Given the description of an element on the screen output the (x, y) to click on. 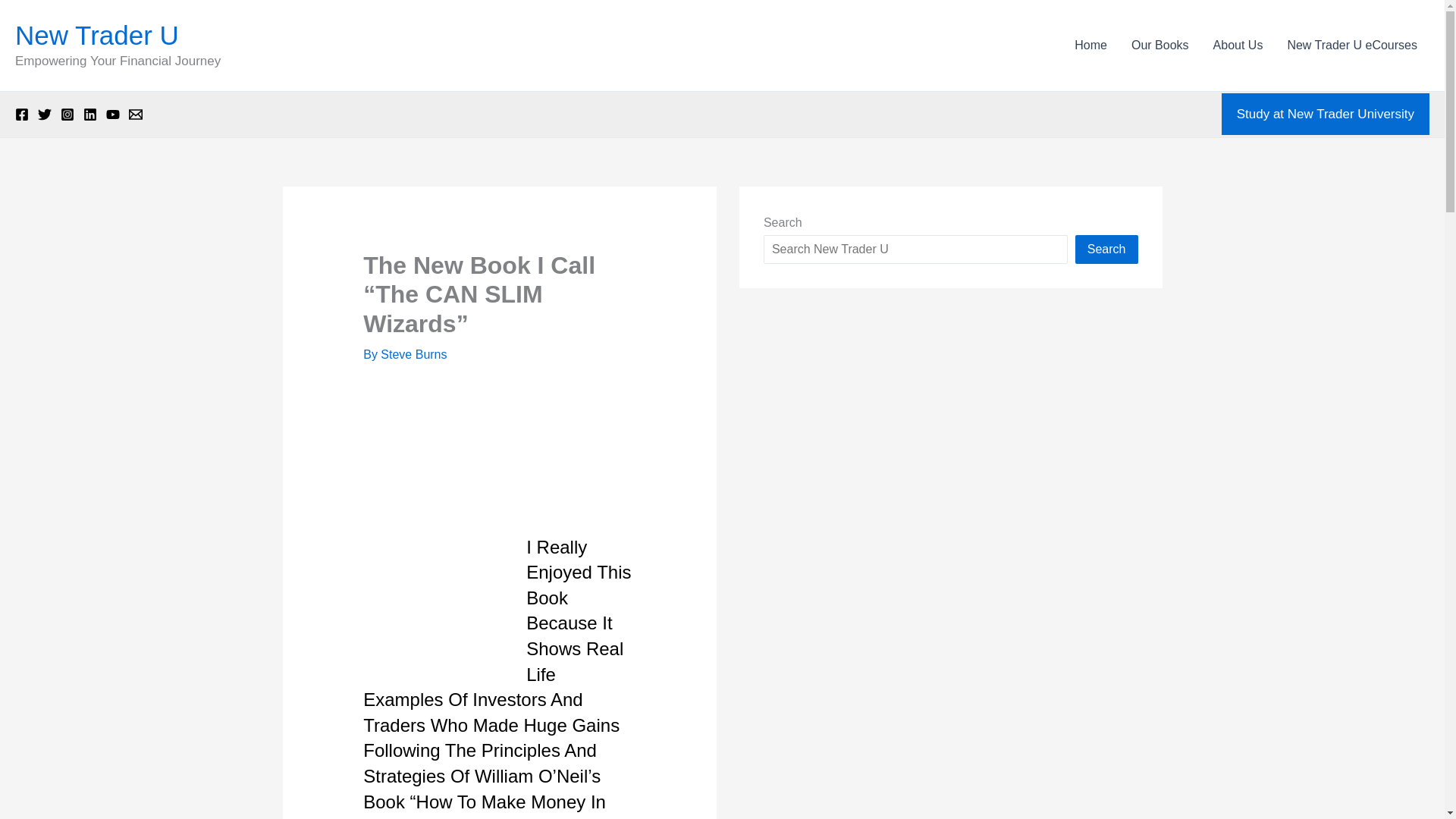
New Trader U eCourses (1352, 45)
Steve Burns (413, 354)
Home (1090, 45)
canslimwizards (430, 602)
New Trader U (96, 34)
View all posts by Steve Burns (413, 354)
Study at New Trader University (1325, 114)
Search (1106, 249)
The New Book I Call "The CAN SLIM Wizards" 2 (435, 419)
Our Books (1160, 45)
